Given the description of an element on the screen output the (x, y) to click on. 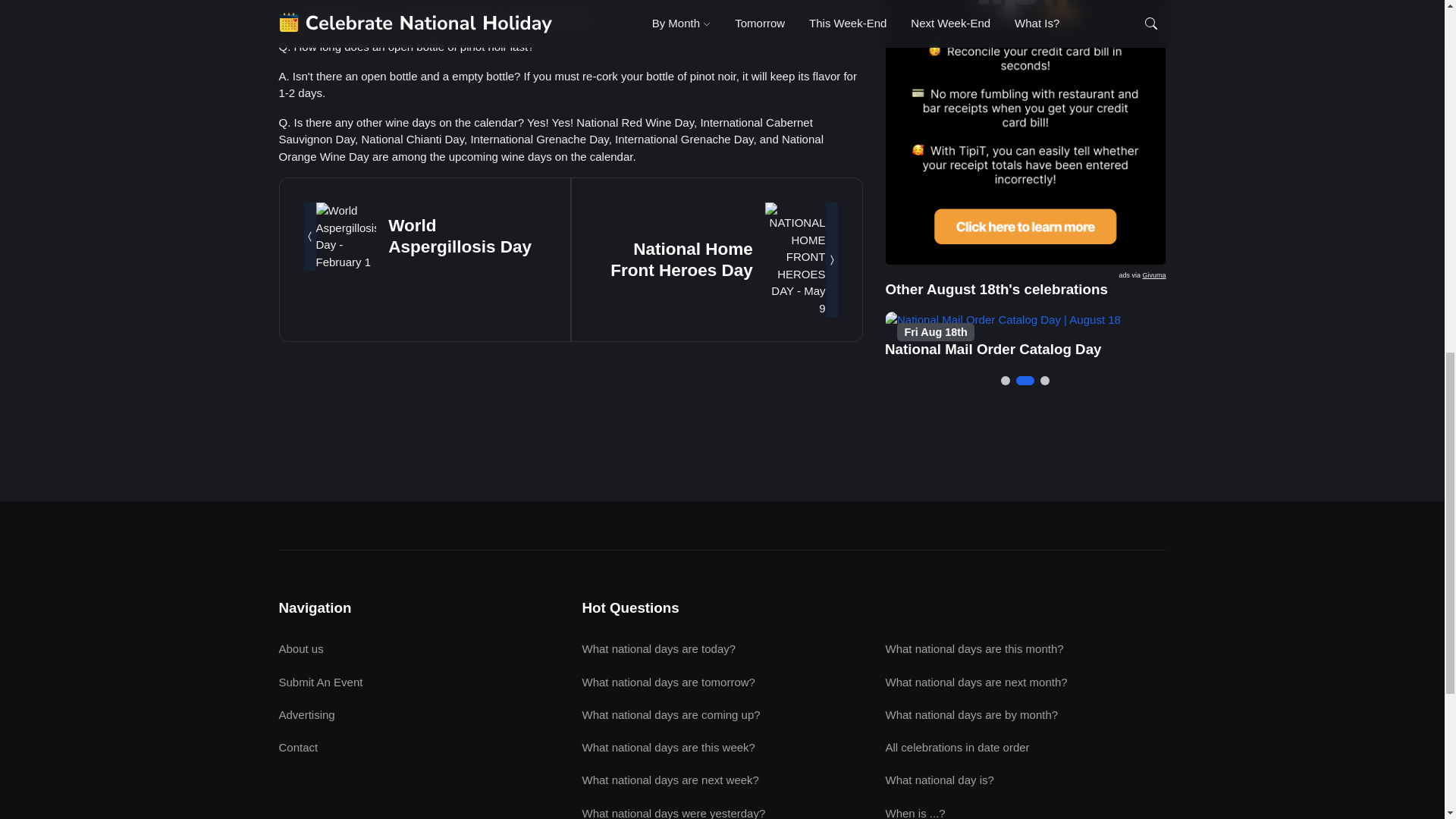
National Home Front Heroes Day (681, 259)
World Aspergillosis Day (459, 236)
